Given the description of an element on the screen output the (x, y) to click on. 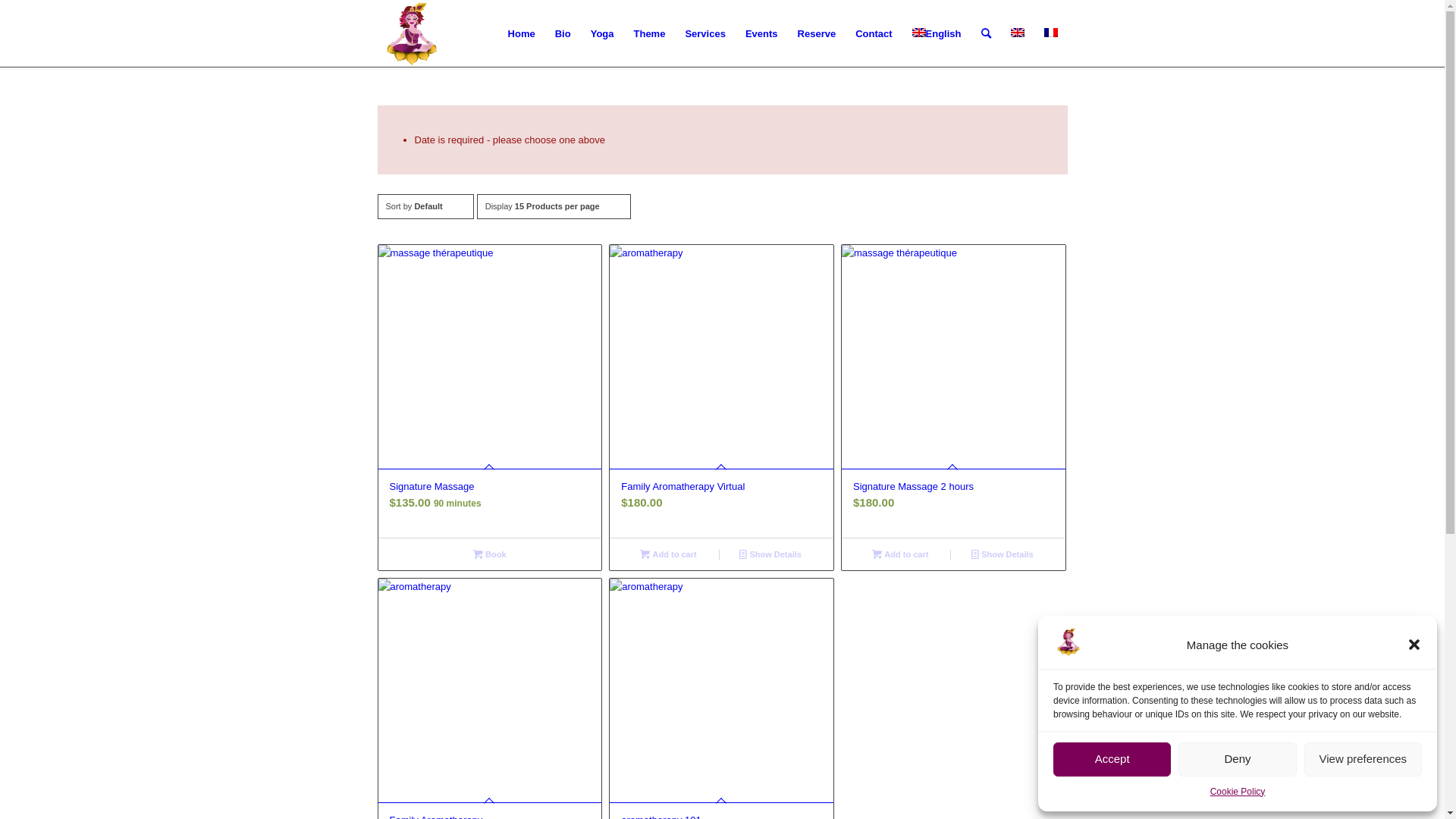
Bio Element type: text (562, 34)
Home Element type: text (521, 34)
Show Details Element type: text (770, 554)
Accept Element type: text (1111, 759)
Contact Element type: text (873, 34)
Reserve Element type: text (816, 34)
Theme Element type: text (648, 34)
Book Element type: text (489, 554)
Signature Massage 2 hours
$180.00 Element type: text (953, 390)
Add to cart Element type: text (668, 554)
Add to cart Element type: text (900, 554)
Deny Element type: text (1236, 759)
Events Element type: text (761, 34)
Show Details Element type: text (1002, 554)
Signature Massage
$135.00 90 minutes Element type: text (489, 390)
English Element type: text (936, 34)
English Element type: hover (1016, 32)
Cookie Policy Element type: text (1237, 792)
View preferences Element type: text (1362, 759)
Yoga Element type: text (602, 34)
Services Element type: text (704, 34)
Family Aromatherapy Virtual
$180.00 Element type: text (721, 390)
